Given the description of an element on the screen output the (x, y) to click on. 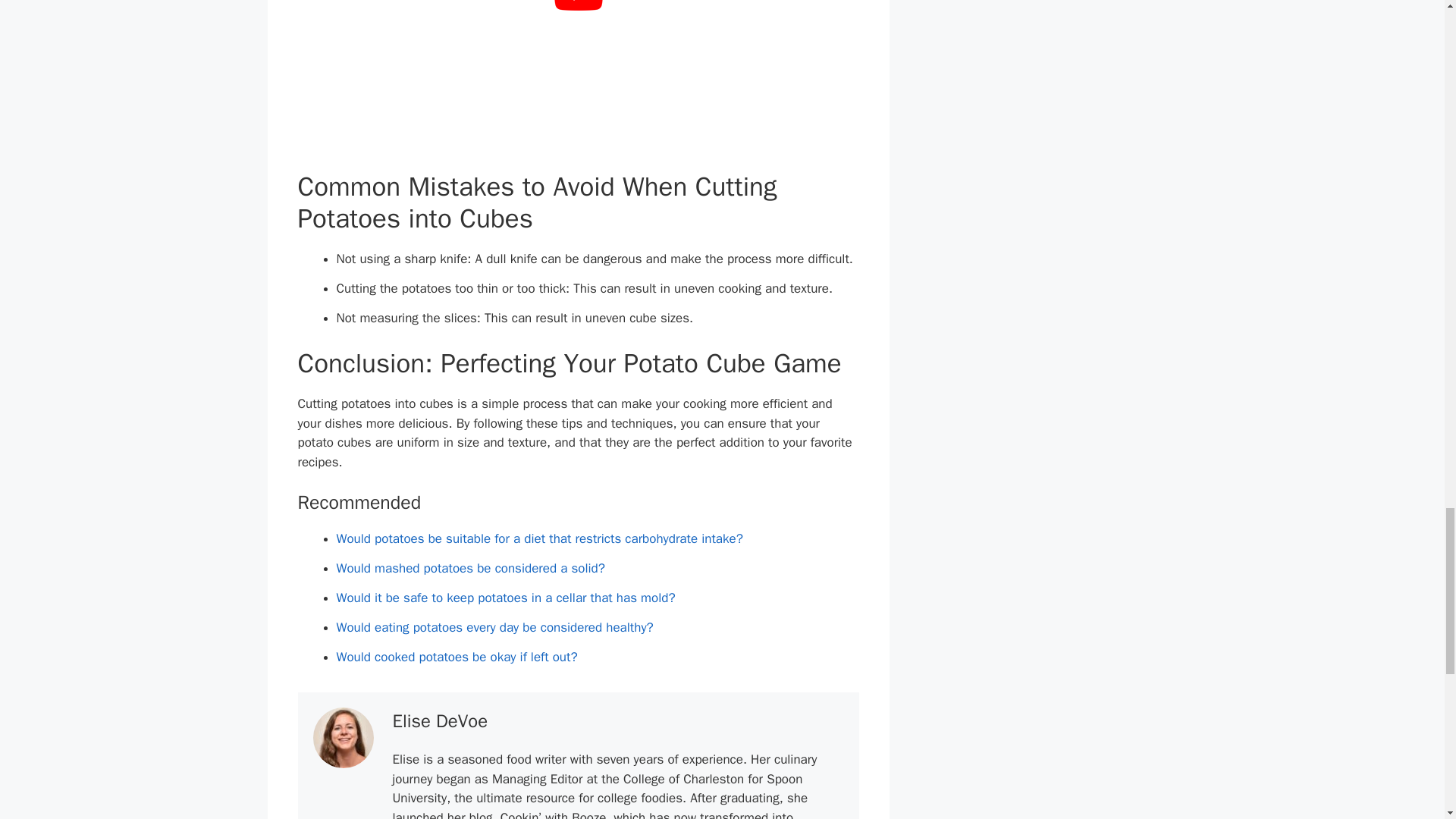
Would it be safe to keep potatoes in a cellar that has mold? (505, 597)
Would eating potatoes every day be considered healthy? (494, 627)
Would mashed potatoes be considered a solid? (470, 568)
Elise DeVoe (440, 721)
Would cooked potatoes be okay if left out? (457, 657)
